Given the description of an element on the screen output the (x, y) to click on. 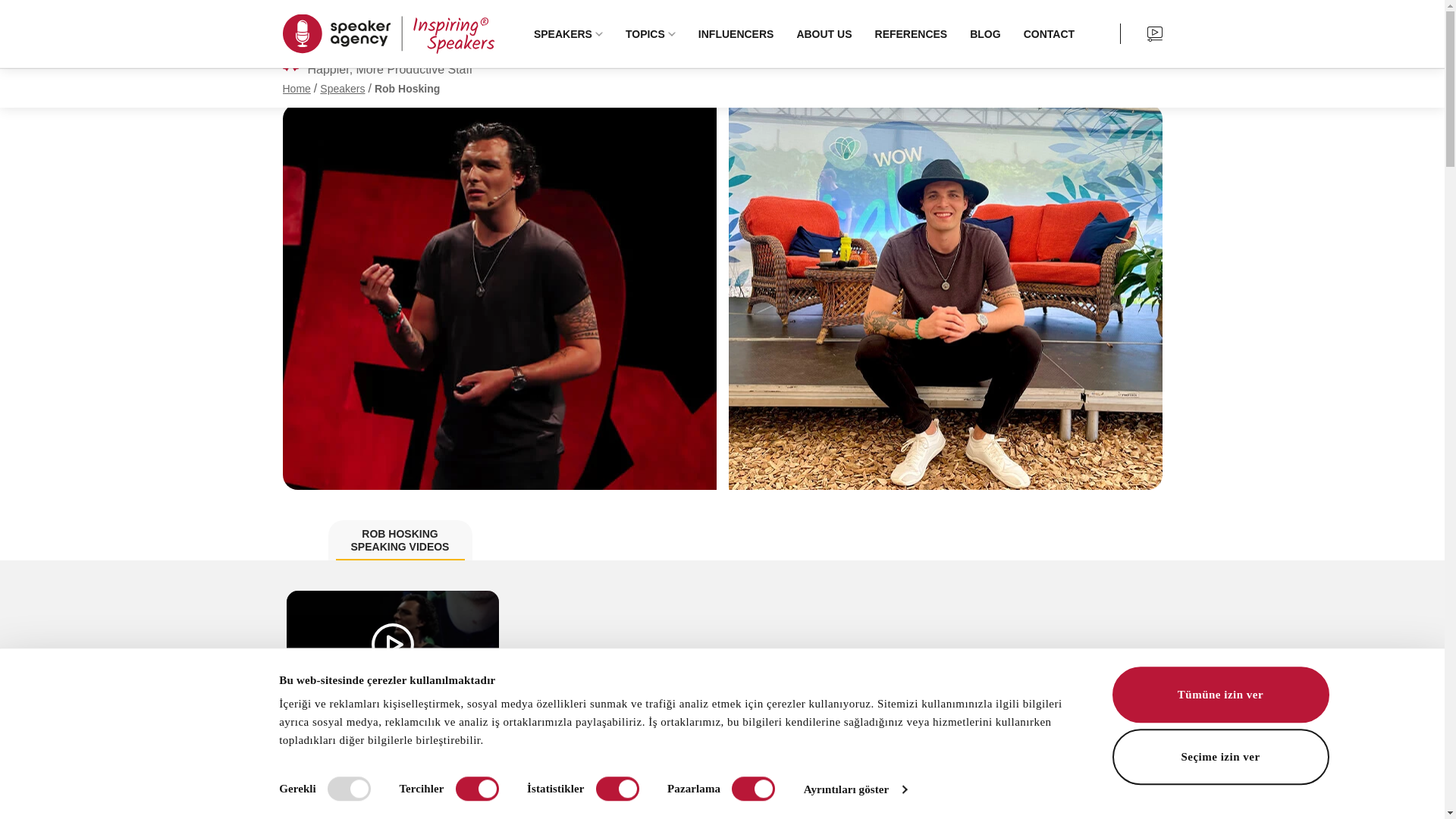
SPEAKERS (567, 33)
TOPICS (649, 33)
INFLUENCERS (735, 33)
ABOUT US (824, 33)
REFERENCES (911, 33)
CONTACT (1048, 33)
